Given the description of an element on the screen output the (x, y) to click on. 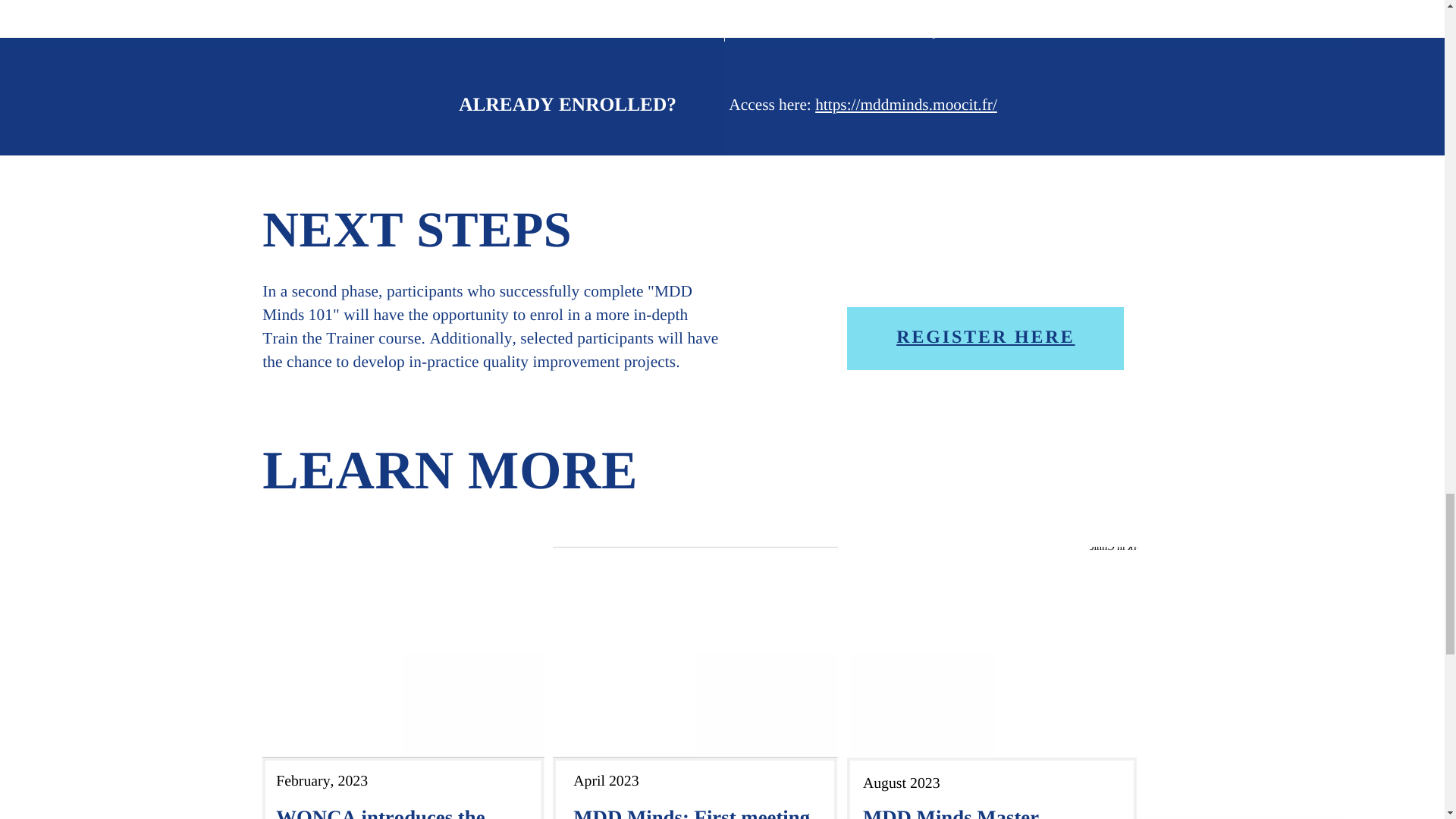
February, 2023 (322, 781)
REGISTER HERE (985, 337)
WONCA introduces the MDD Minds Project (380, 812)
